Given the description of an element on the screen output the (x, y) to click on. 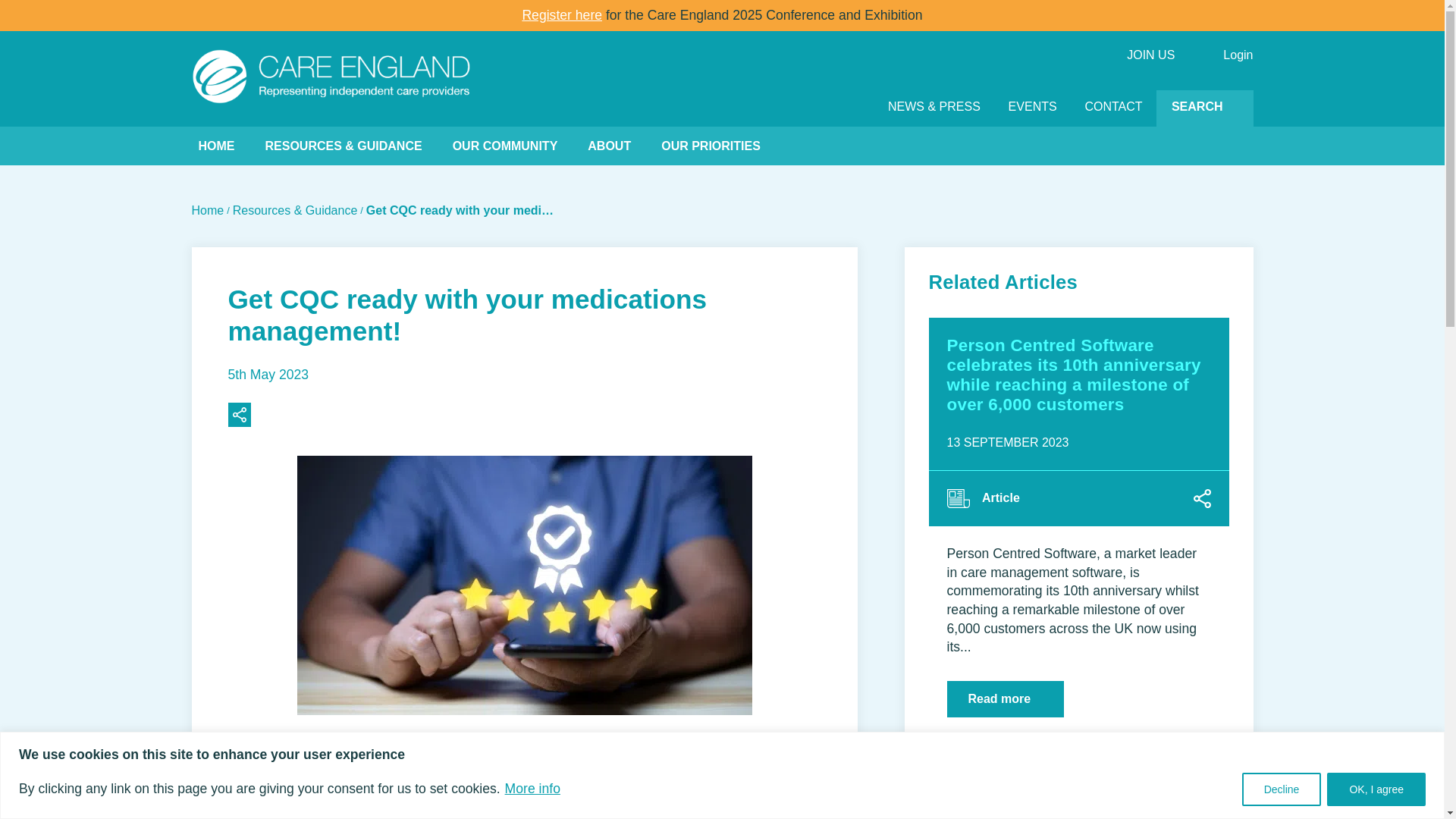
OUR COMMUNITY (504, 145)
Login (1237, 55)
CONTACT (1113, 108)
EVENTS (1032, 108)
Decline (1281, 788)
HOME (216, 145)
ABOUT (609, 145)
More info (531, 788)
SEARCH (1204, 108)
JOIN US (1150, 55)
